Given the description of an element on the screen output the (x, y) to click on. 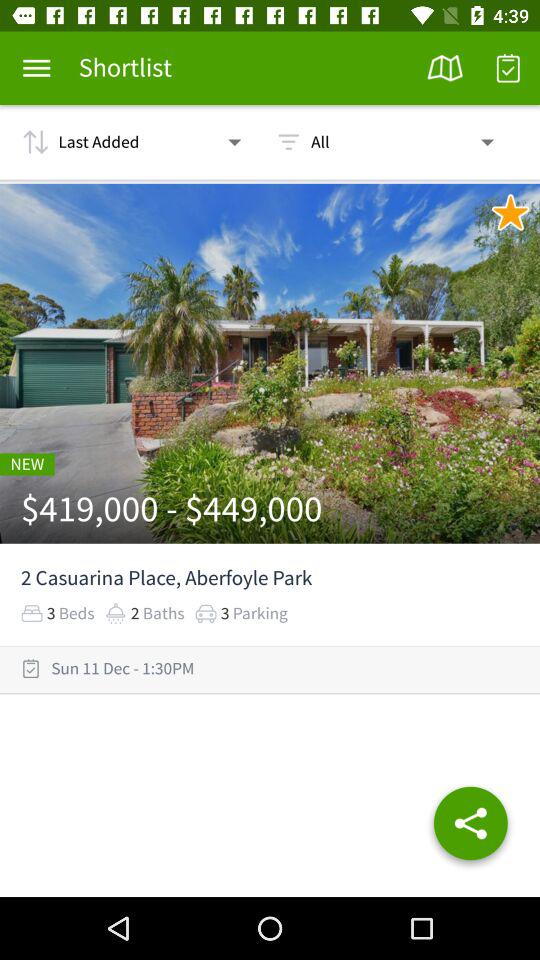
click the favorite option (510, 212)
